Given the description of an element on the screen output the (x, y) to click on. 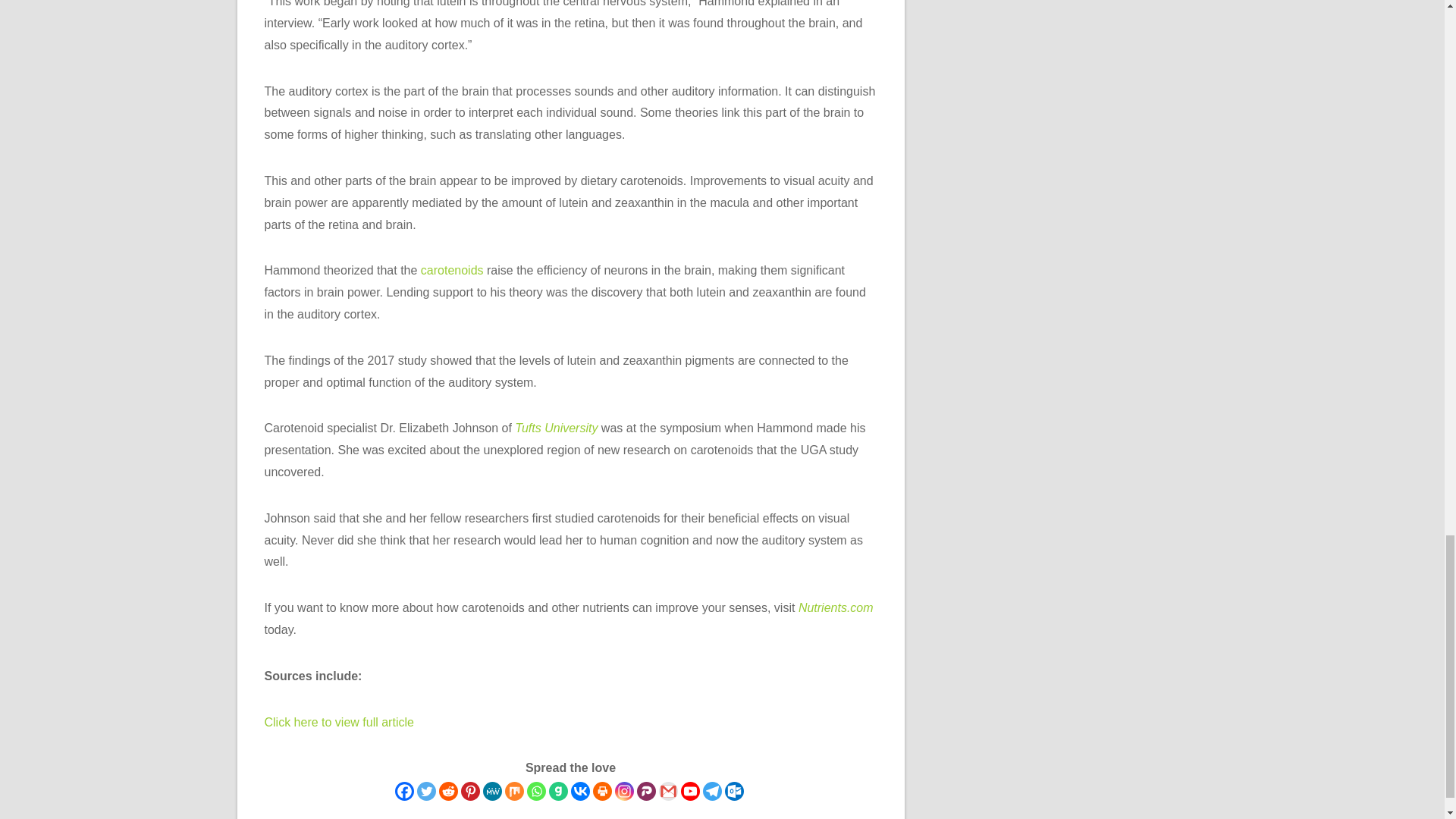
Twitter (425, 791)
Whatsapp (534, 791)
Print (601, 791)
Vkontakte (579, 791)
Gab (557, 791)
Tufts University (555, 427)
Click here to view full article (338, 721)
Mix (514, 791)
Pinterest (470, 791)
Nutrients.com (835, 607)
